Given the description of an element on the screen output the (x, y) to click on. 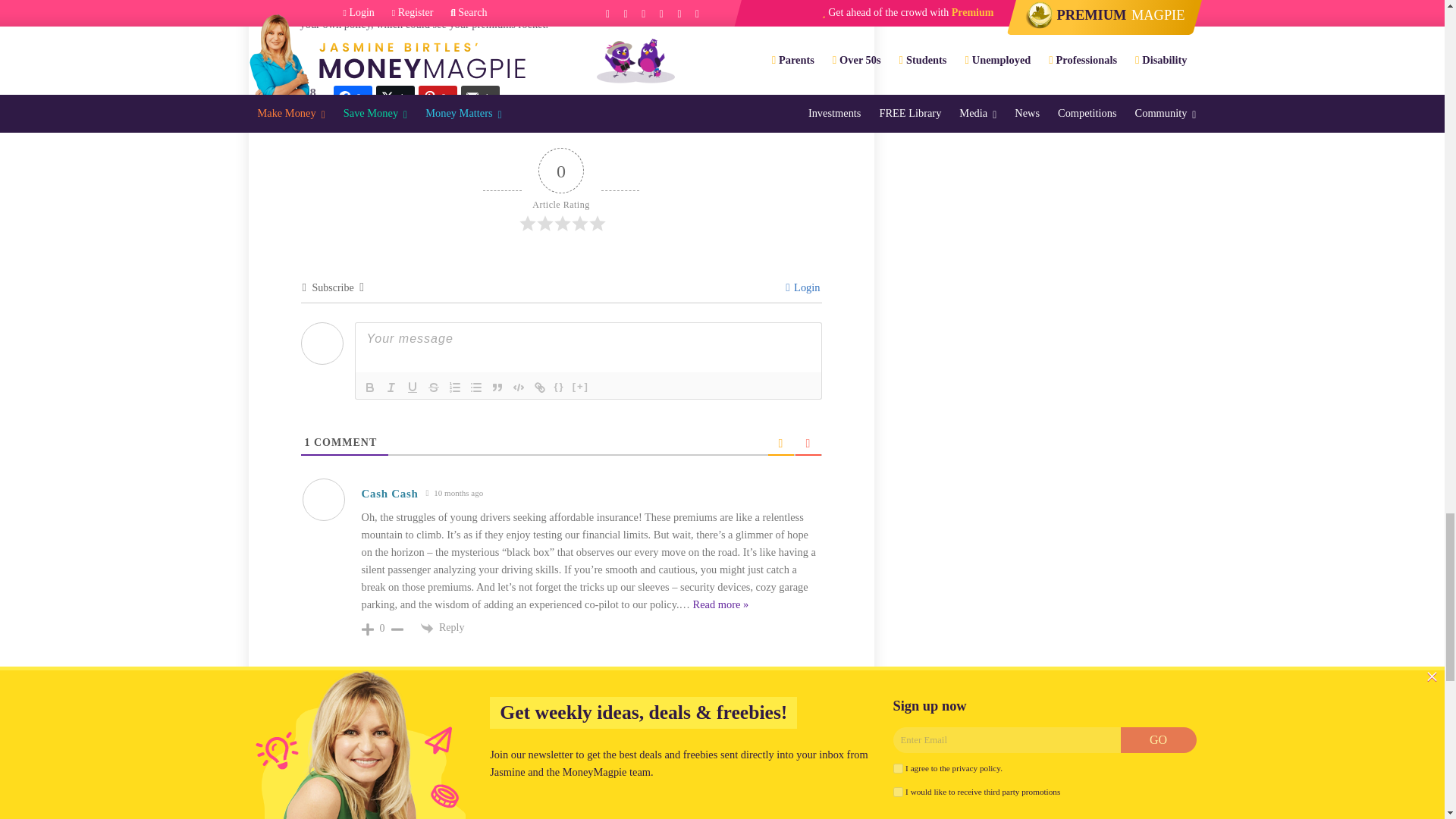
Share on Email (480, 96)
Share on Facebook (352, 96)
Italic (390, 387)
Strike (433, 387)
Bold (369, 387)
Underline (412, 387)
Share on Twitter (394, 96)
Share on Pinterest (438, 96)
